Given the description of an element on the screen output the (x, y) to click on. 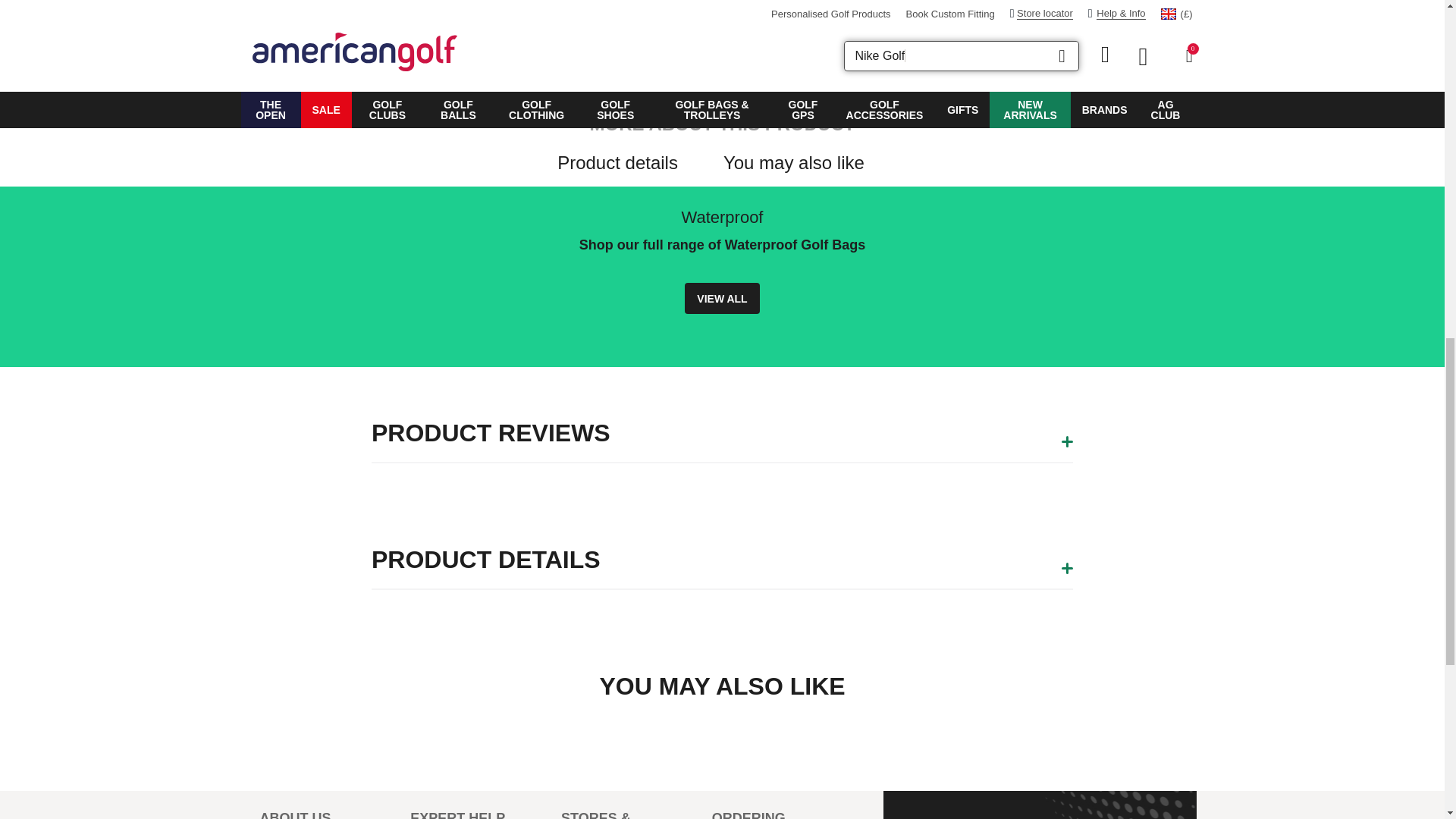
Product details (617, 162)
You may also like (793, 162)
